Given the description of an element on the screen output the (x, y) to click on. 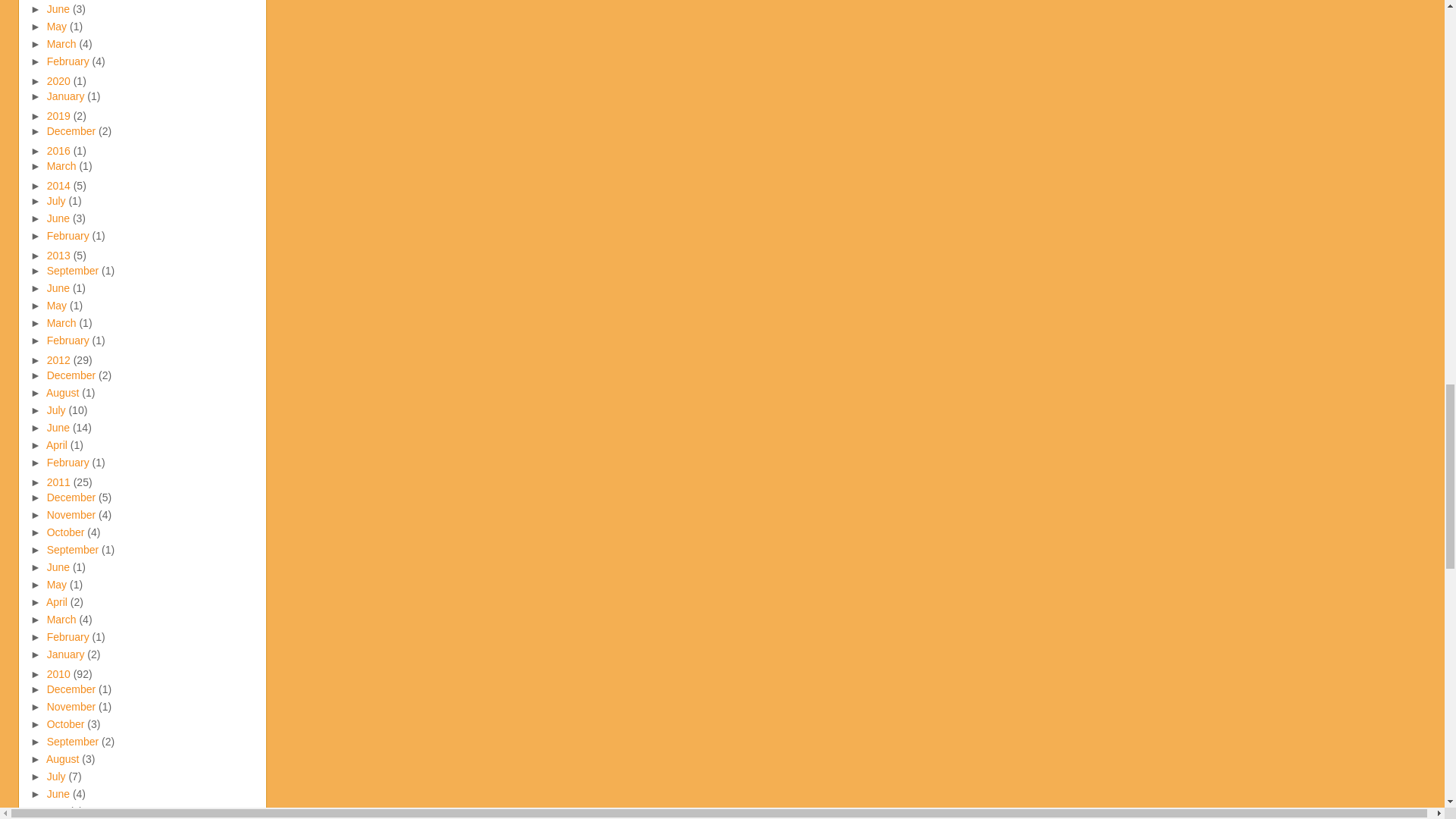
June (59, 9)
May (57, 26)
